Given the description of an element on the screen output the (x, y) to click on. 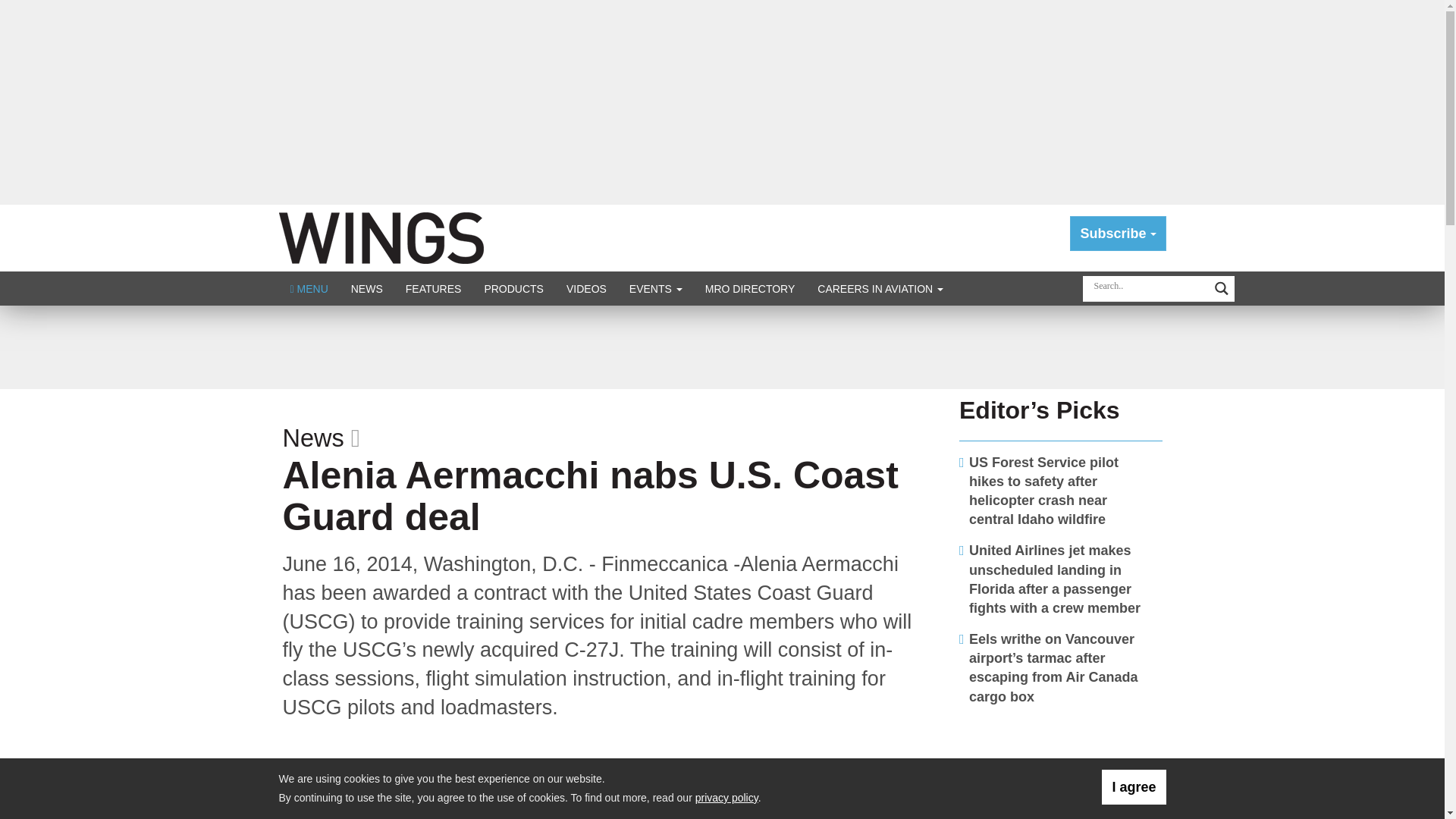
EVENTS (655, 288)
Subscribe (1118, 233)
FEATURES (433, 288)
Wings Magazine (381, 237)
3rd party ad content (1060, 769)
CAREERS IN AVIATION (880, 288)
Click to show site navigation (309, 288)
VIDEOS (585, 288)
NEWS (366, 288)
MENU (309, 288)
MRO DIRECTORY (750, 288)
PRODUCTS (512, 288)
3rd party ad content (721, 346)
